Given the description of an element on the screen output the (x, y) to click on. 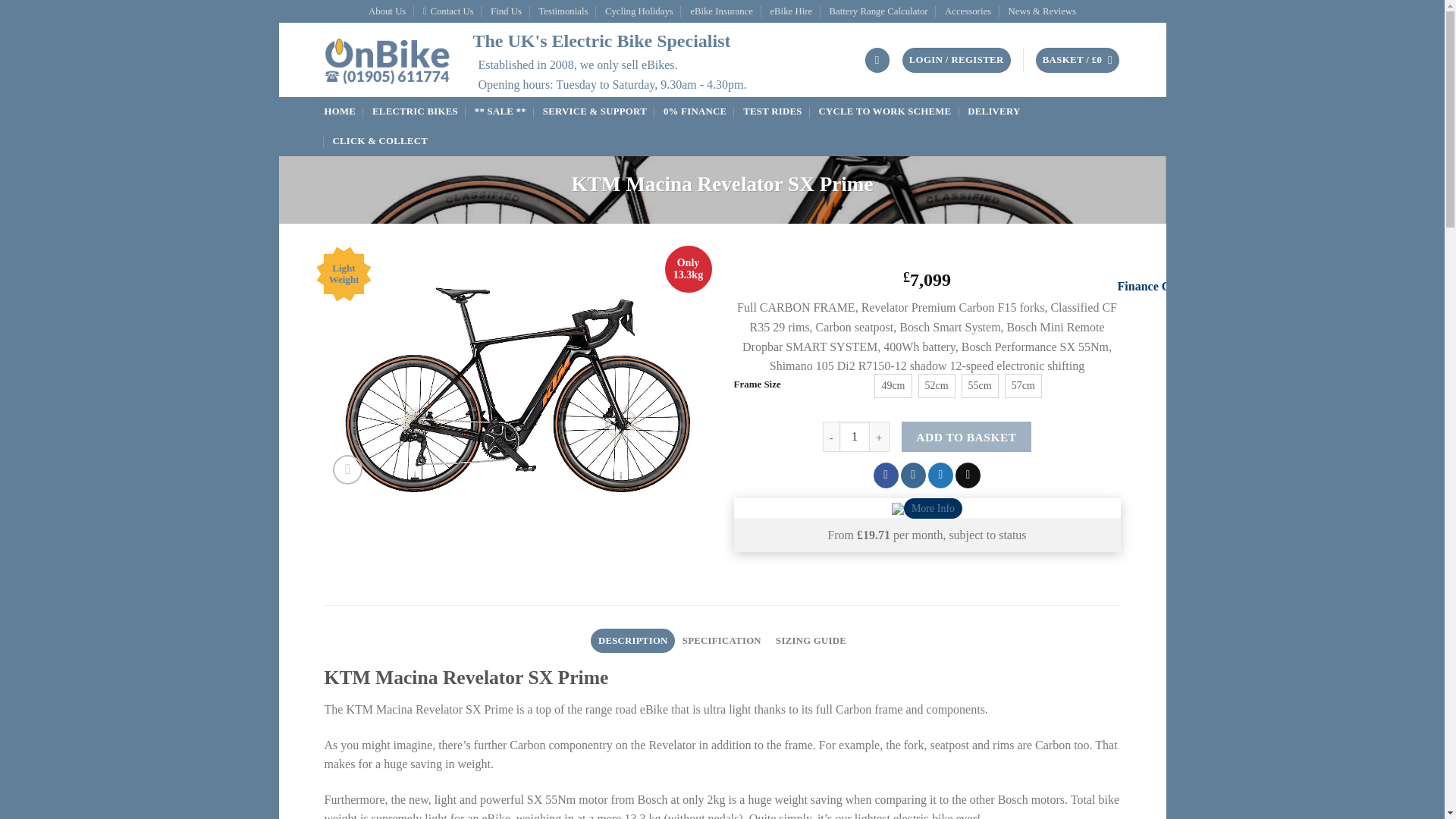
Buy Electric Bikes from OnBike - UK Electric Bike Specialist (386, 60)
DELIVERY (994, 111)
49cm (893, 385)
Zoom (347, 469)
ELECTRIC BIKES (415, 111)
55cm (979, 385)
Follow on Twitter (940, 475)
Testimonials (563, 11)
Find Us (505, 11)
Cycling Holidays (638, 11)
Follow on Instagram (913, 475)
1 (854, 436)
57cm (1023, 385)
Accessories (967, 11)
TEST RIDES (772, 111)
